Given the description of an element on the screen output the (x, y) to click on. 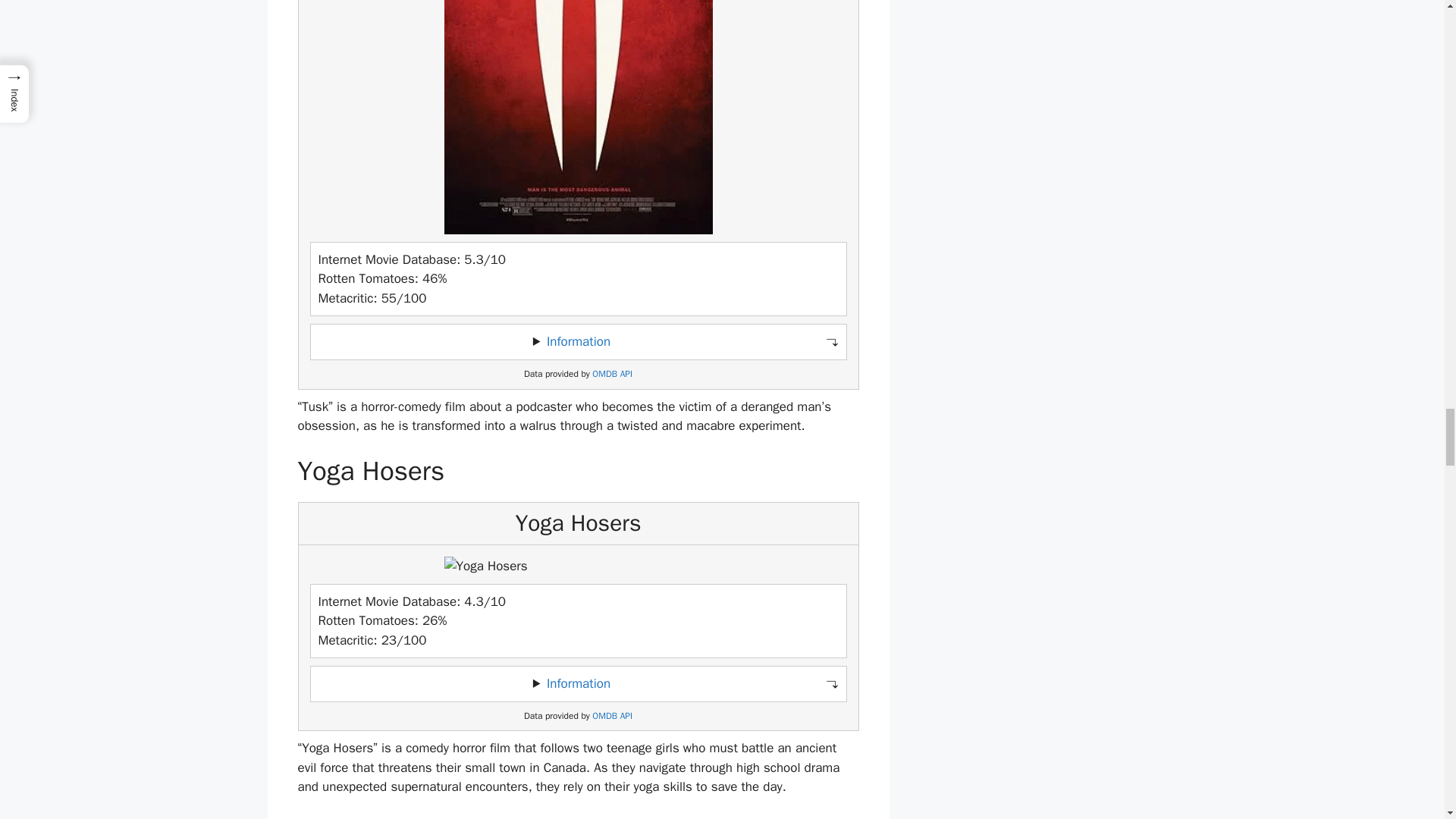
OMDB API (611, 715)
Information (578, 683)
OMDB API (611, 374)
Information (578, 341)
